Given the description of an element on the screen output the (x, y) to click on. 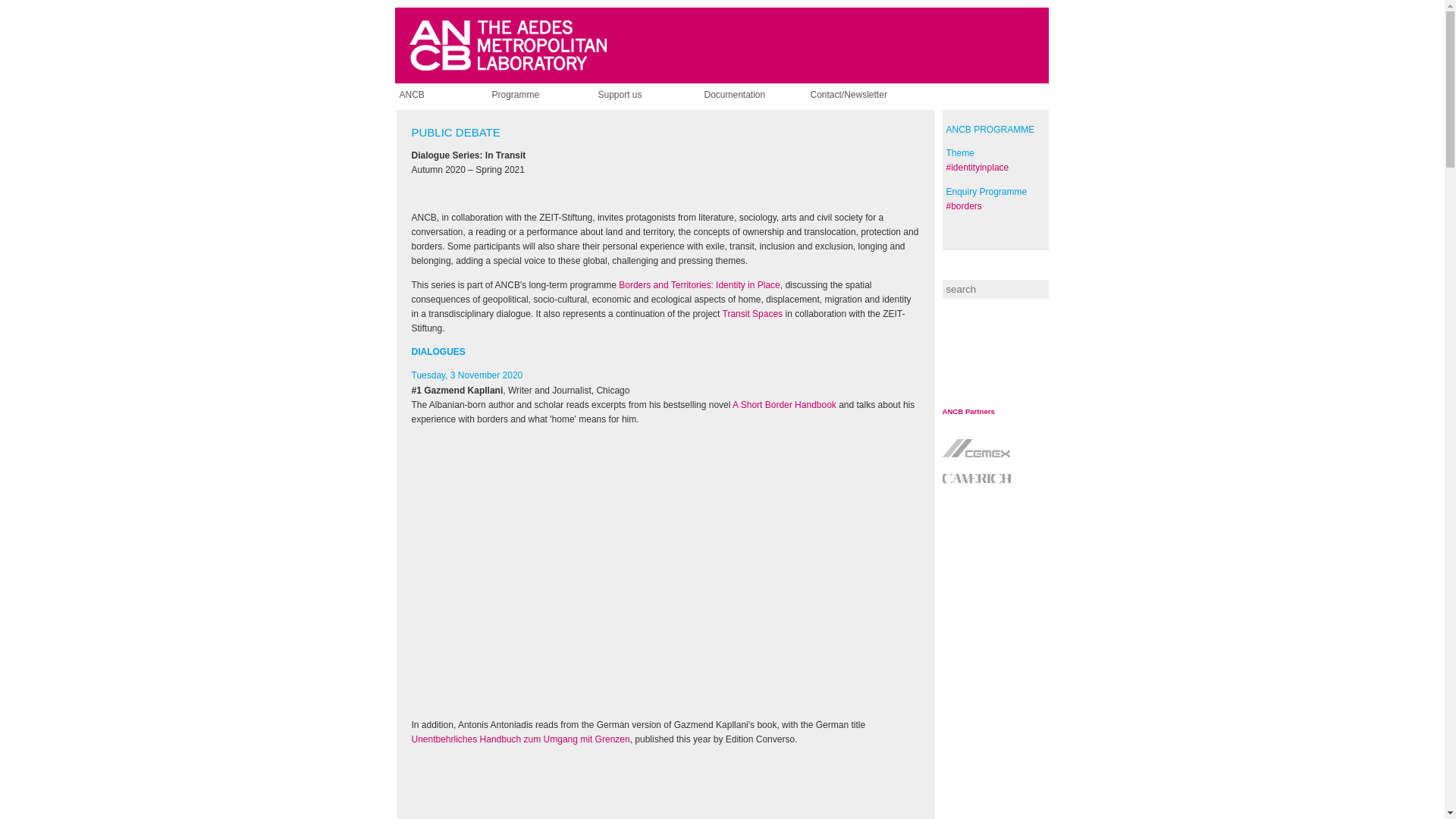
Documentation (754, 94)
ANCB Partners (968, 411)
Borders and Territories: Identity in Place (699, 284)
Support us (647, 94)
Unentbehrliches Handbuch zum Umgang mit Grenzen (519, 738)
Transit Spaces (752, 313)
ANCB (449, 94)
A Short Border Handbook (783, 404)
Programme (542, 94)
